Given the description of an element on the screen output the (x, y) to click on. 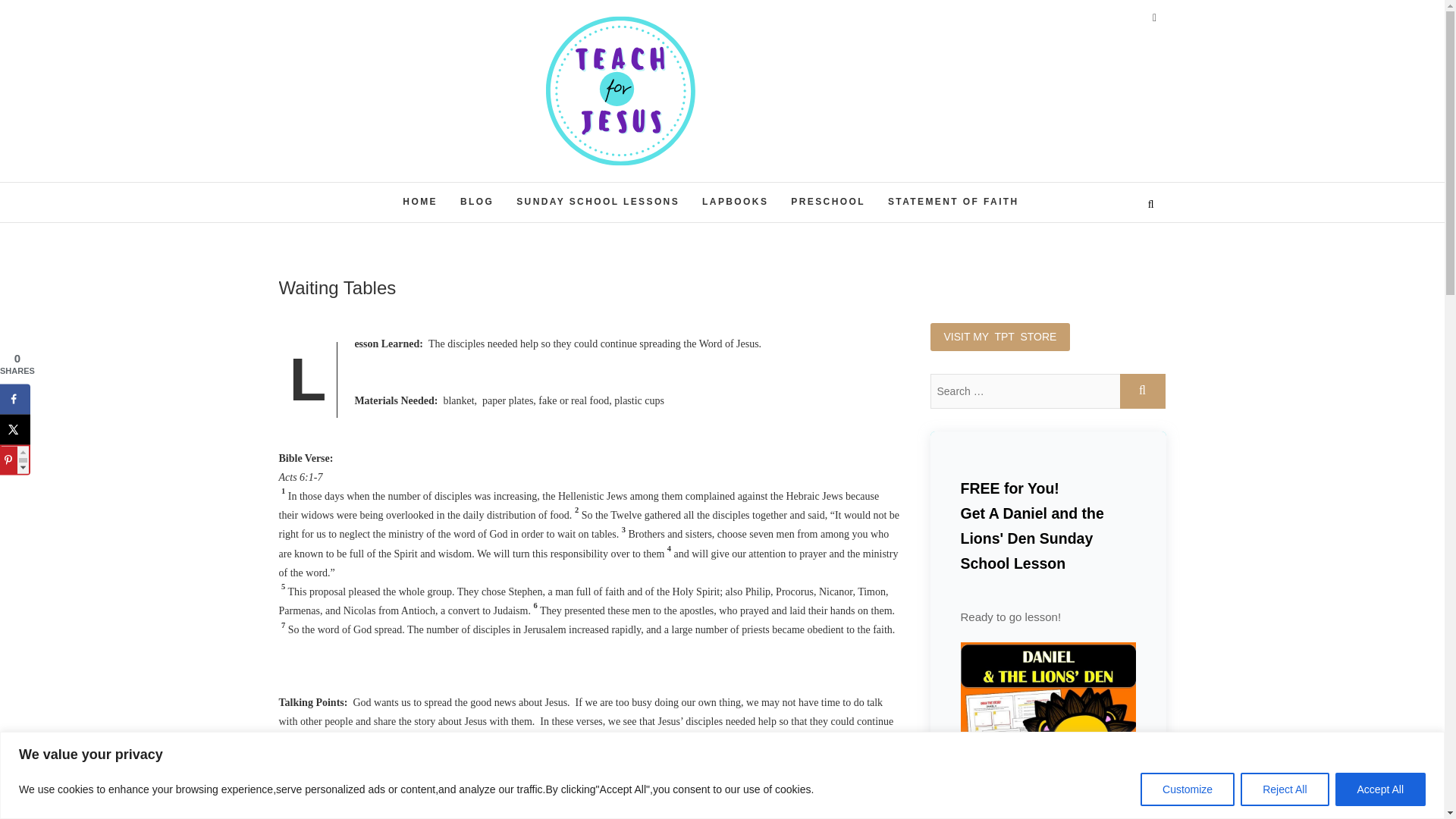
HOME (419, 201)
Customize (1187, 788)
Share on X (15, 429)
Save to Pinterest (15, 459)
Reject All (1283, 788)
Teach for Jesus (650, 185)
SUNDAY SCHOOL LESSONS (597, 201)
PRESCHOOL (827, 201)
Visit My  TpT  Store (1000, 336)
BLOG (476, 201)
Accept All (1380, 788)
Visit My  TpT  Store (1000, 336)
Teach for Jesus (650, 185)
LAPBOOKS (734, 201)
Share on Facebook (15, 399)
